Given the description of an element on the screen output the (x, y) to click on. 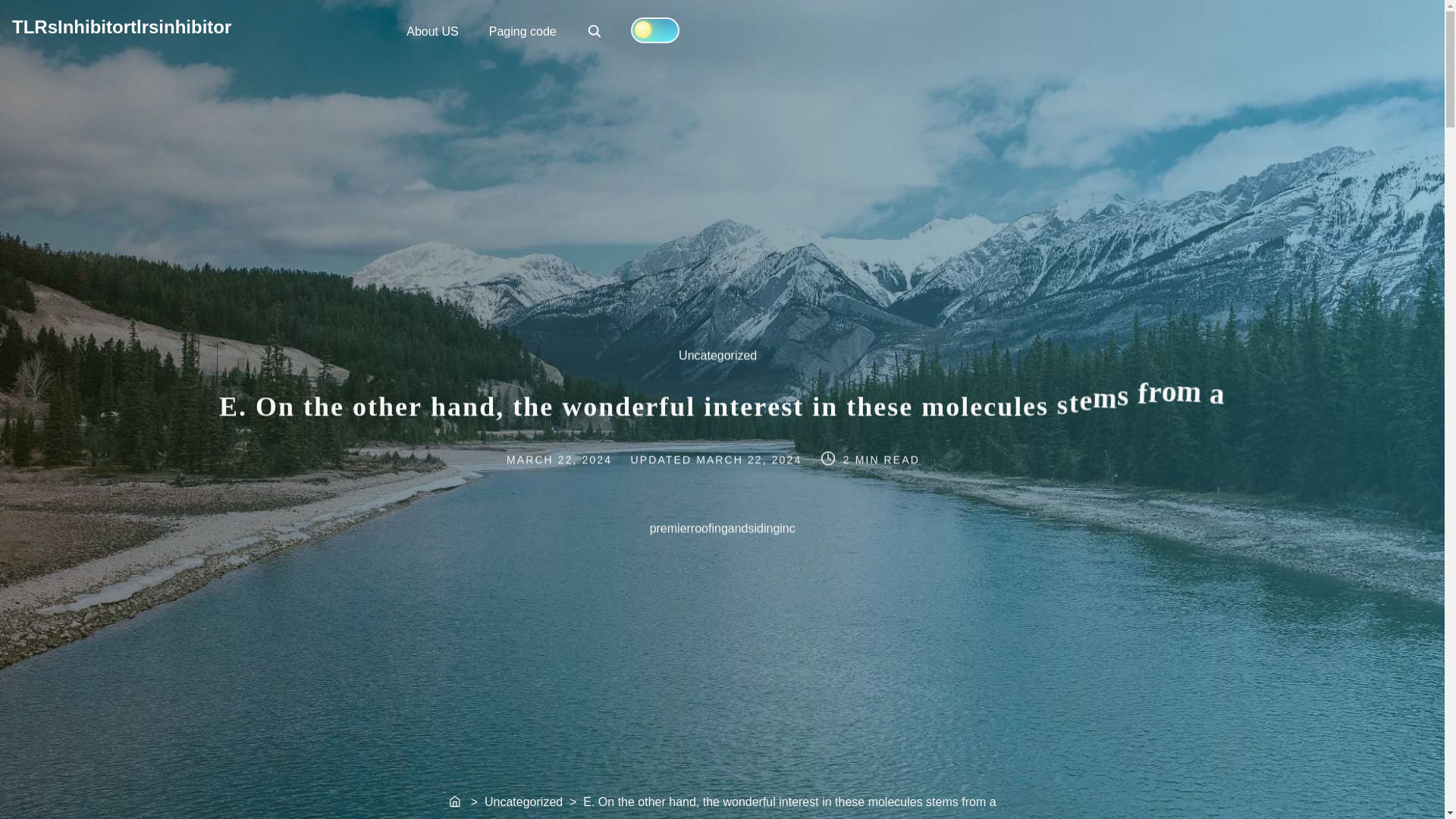
Paging code (596, 31)
TLRsInhibitortlrsinhibitor (523, 30)
MARCH 22, 2024 (121, 26)
Home (750, 459)
Search (455, 802)
MARCH 22, 2024 (594, 30)
Uncategorized (573, 458)
About US (724, 361)
